Given the description of an element on the screen output the (x, y) to click on. 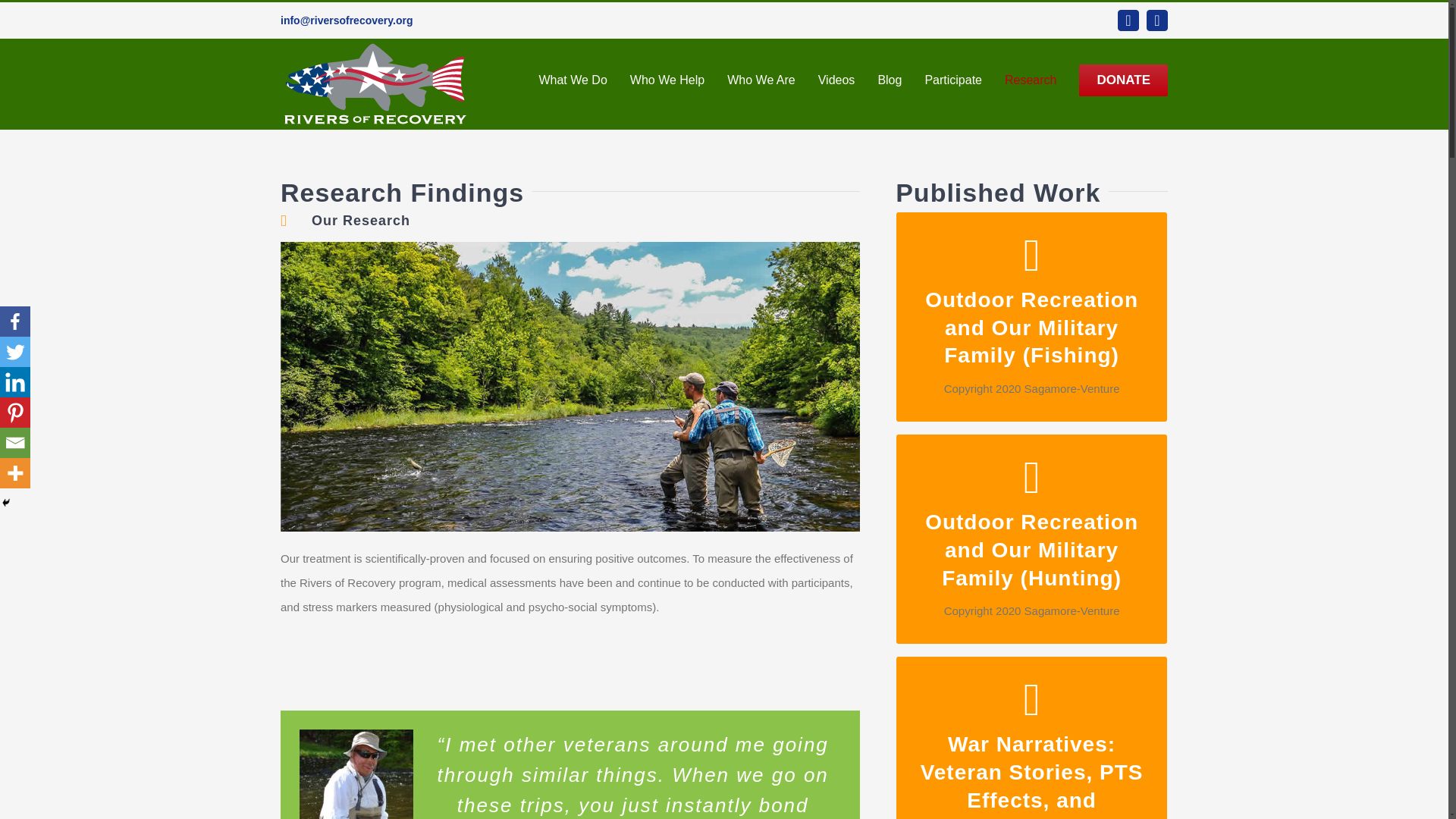
Twitter (15, 351)
Pinterest (15, 412)
More (15, 472)
Hide (5, 502)
Email (15, 442)
Linkedin (15, 381)
DONATE (1122, 80)
Facebook (1128, 20)
Facebook (15, 321)
Facebook (1128, 20)
